Given the description of an element on the screen output the (x, y) to click on. 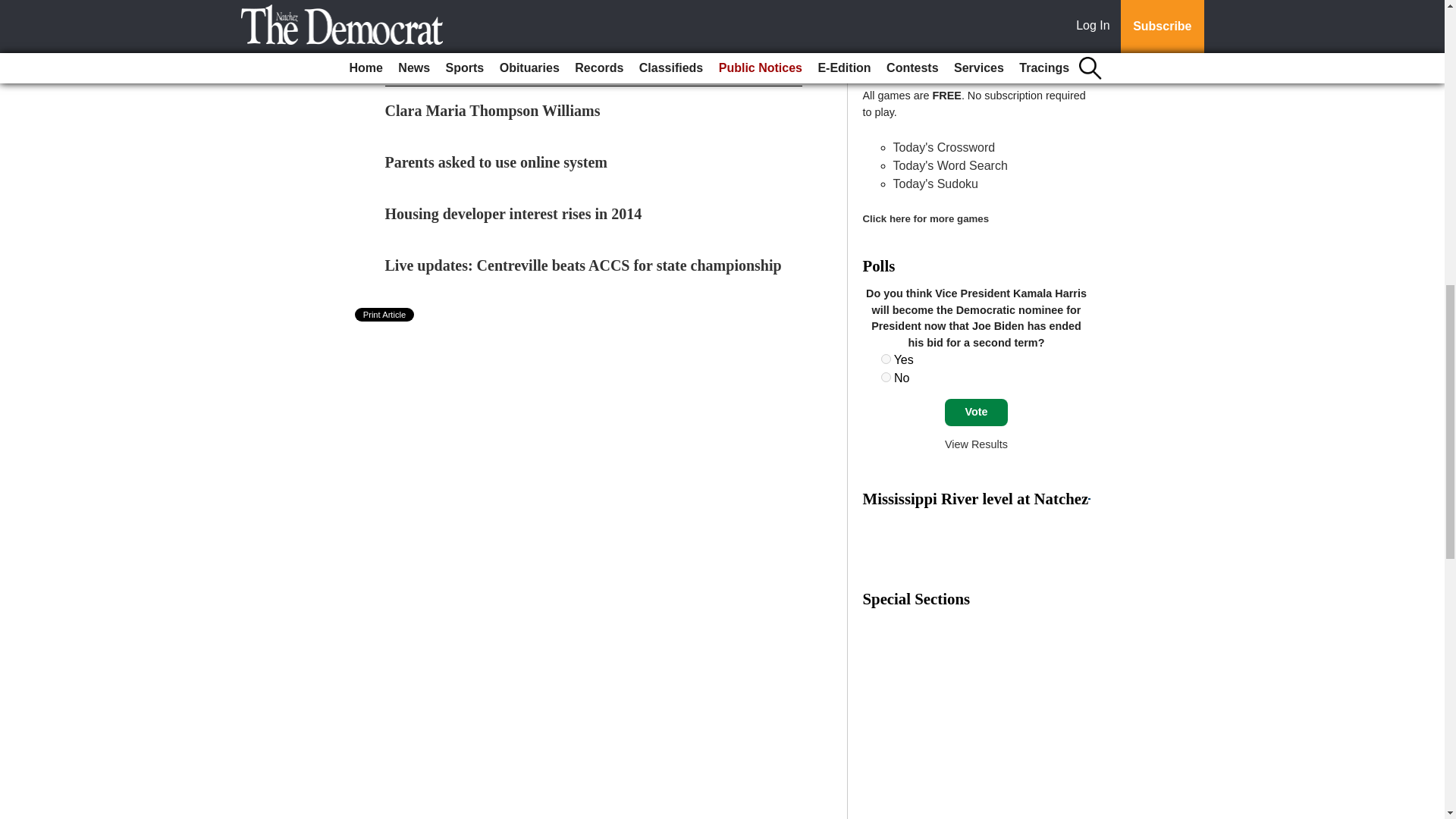
Housing developer interest rises in 2014 (513, 213)
View Results Of This Poll (975, 444)
Parents asked to use online system (496, 161)
Live updates: Centreville beats ACCS for state championship (583, 265)
Print Article (384, 314)
Housing developer interest rises in 2014 (513, 213)
Parents asked to use online system (496, 161)
22426 (885, 377)
Clara Maria Thompson Williams (492, 110)
Subscribe (434, 27)
22425 (885, 358)
Clara Maria Thompson Williams (492, 110)
Live updates: Centreville beats ACCS for state championship (583, 265)
   Vote    (975, 411)
Subscribe (434, 27)
